Given the description of an element on the screen output the (x, y) to click on. 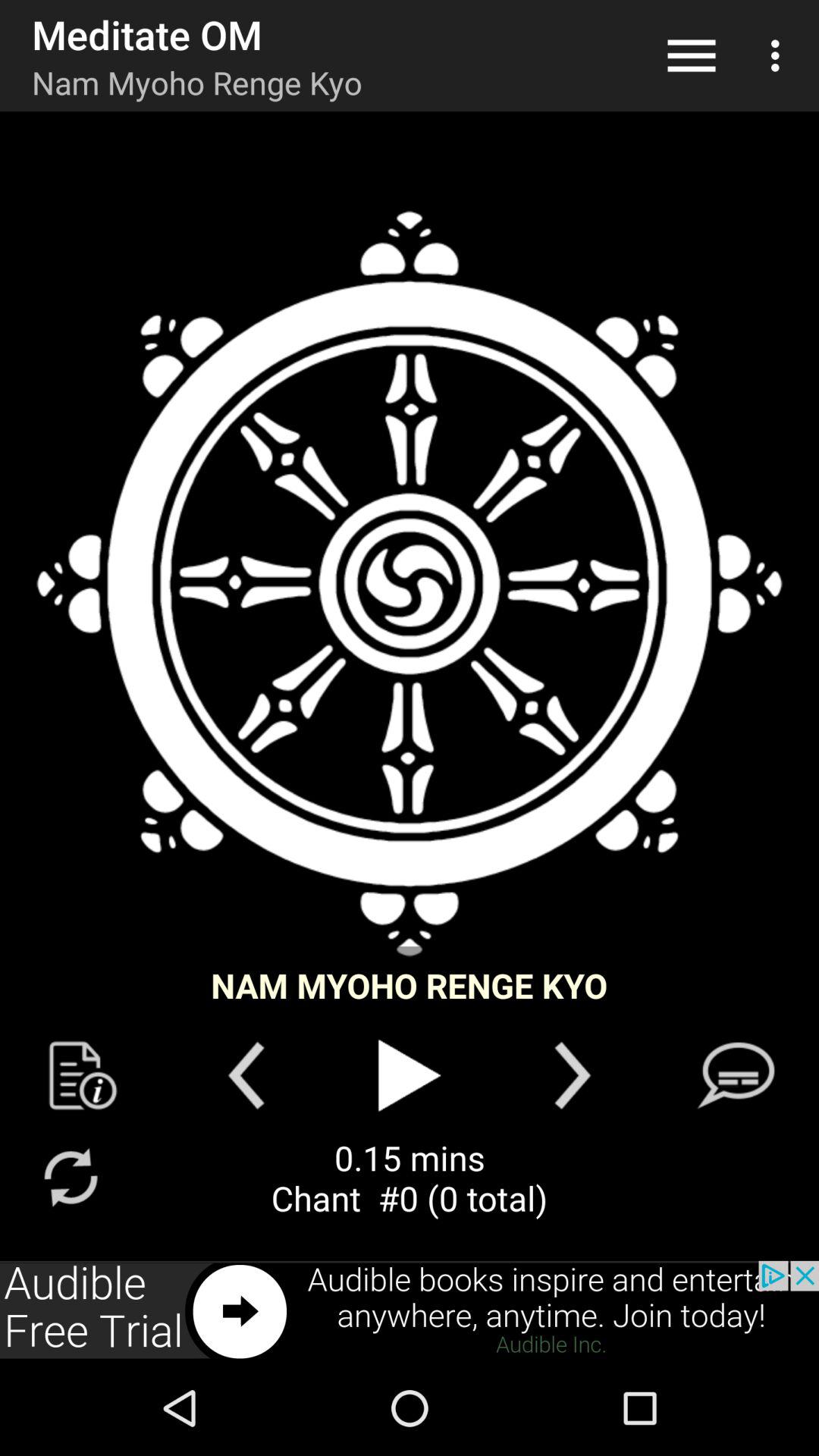
send message (735, 1075)
